Given the description of an element on the screen output the (x, y) to click on. 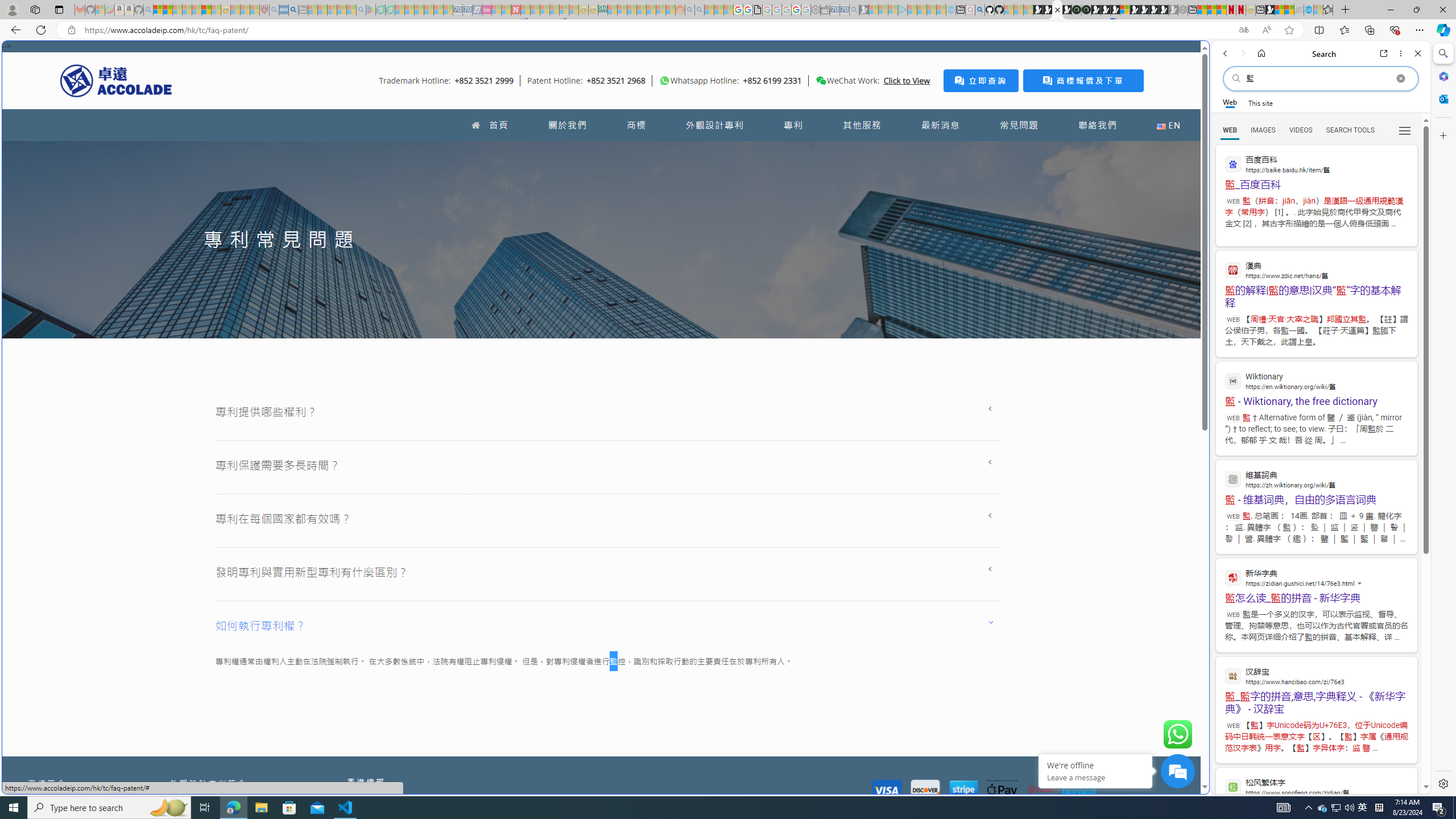
Class: desktop (821, 80)
